Given the description of an element on the screen output the (x, y) to click on. 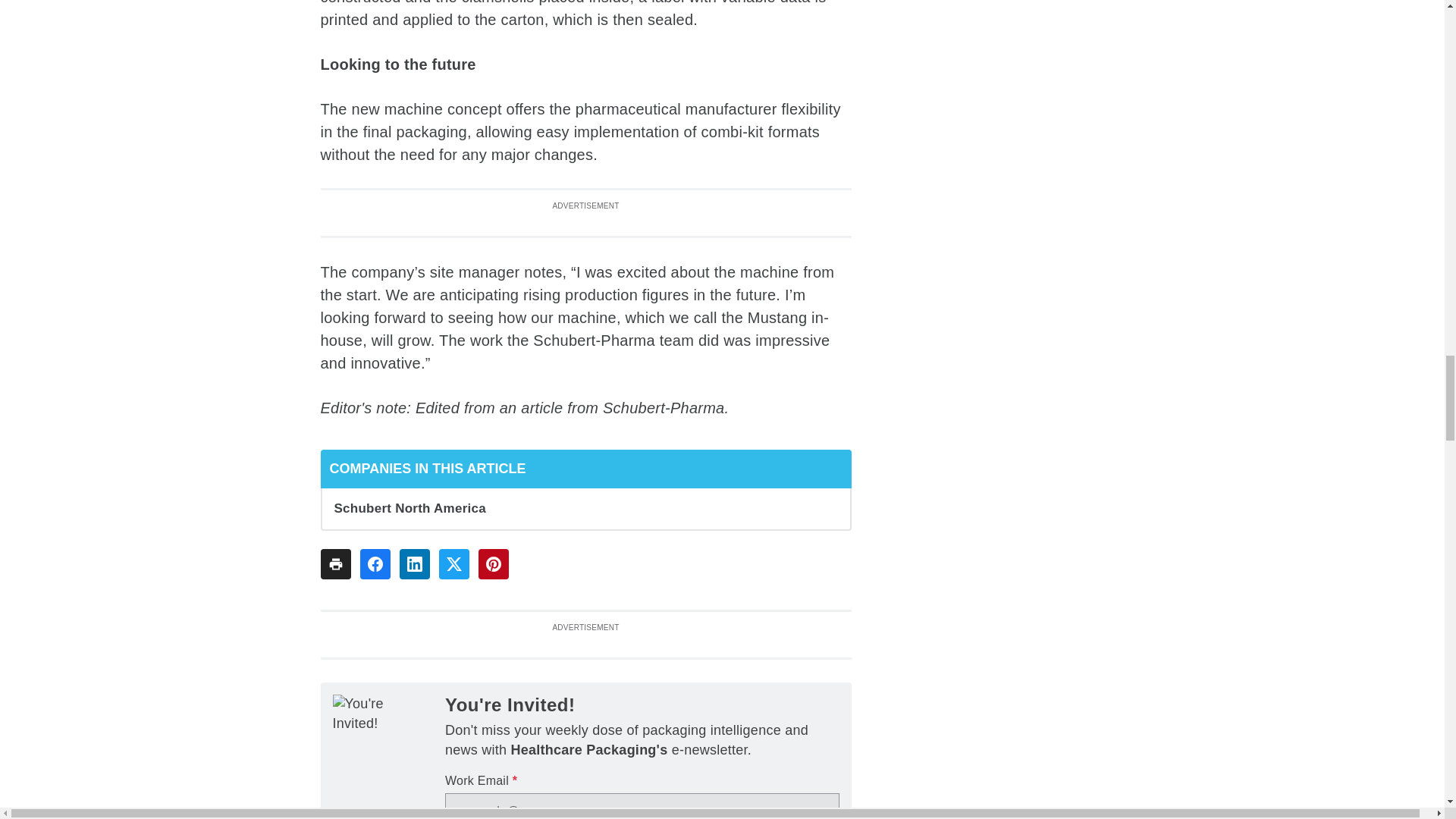
Share To facebook (374, 563)
Share To print (335, 563)
Share To linkedin (413, 563)
